Given the description of an element on the screen output the (x, y) to click on. 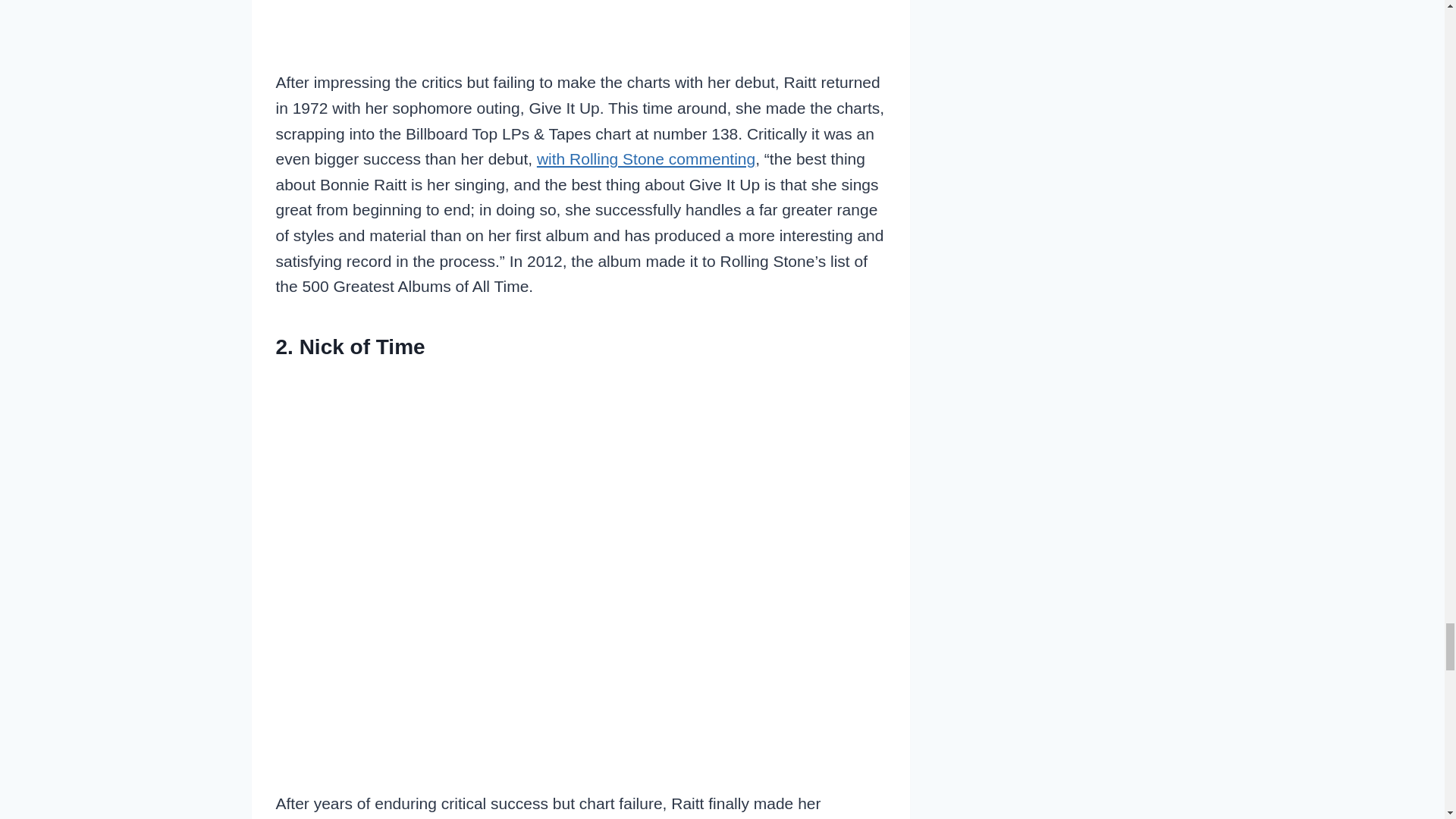
with Rolling Stone commenting (646, 158)
